Given the description of an element on the screen output the (x, y) to click on. 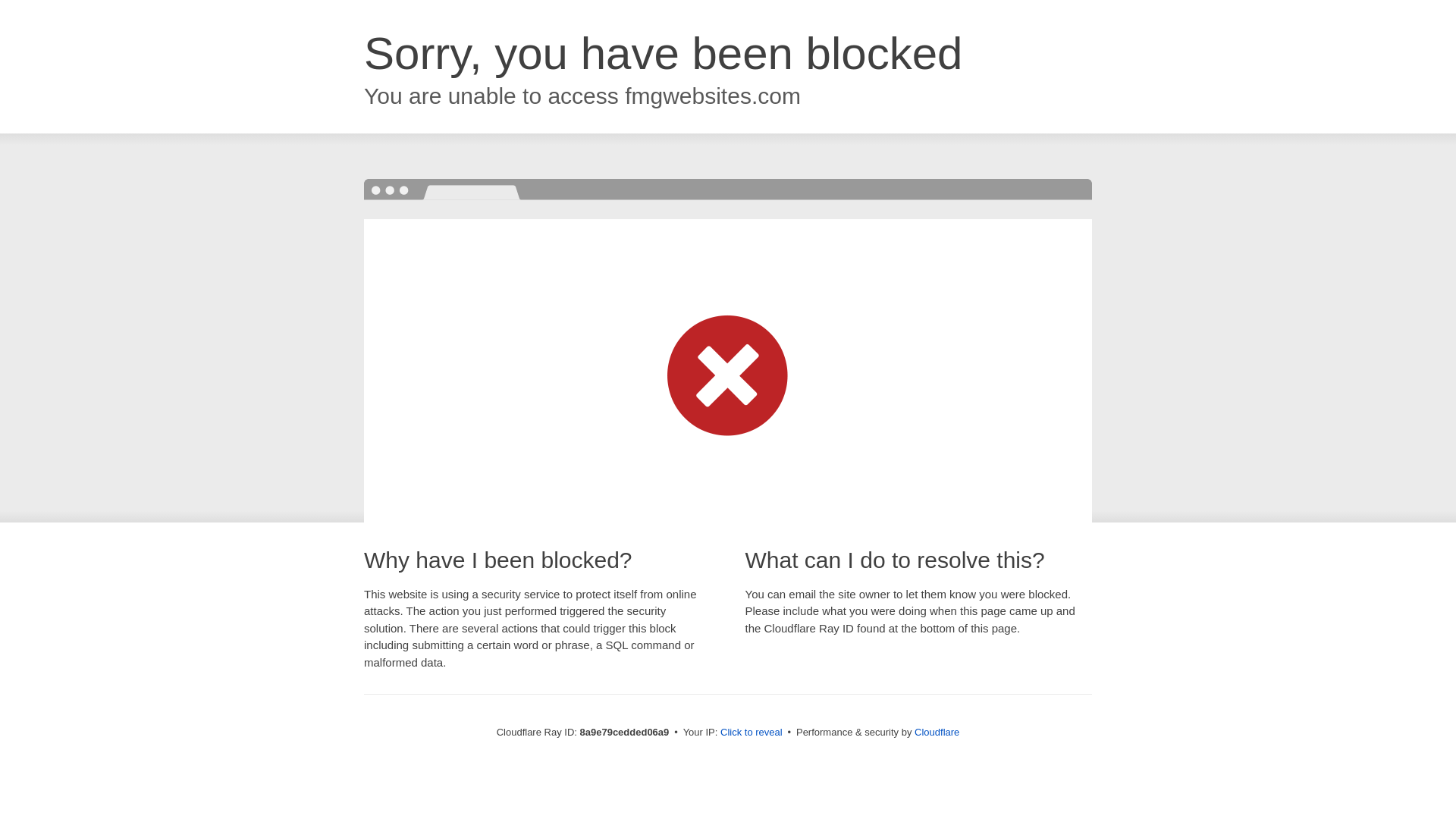
Click to reveal (751, 732)
Cloudflare (936, 731)
